Given the description of an element on the screen output the (x, y) to click on. 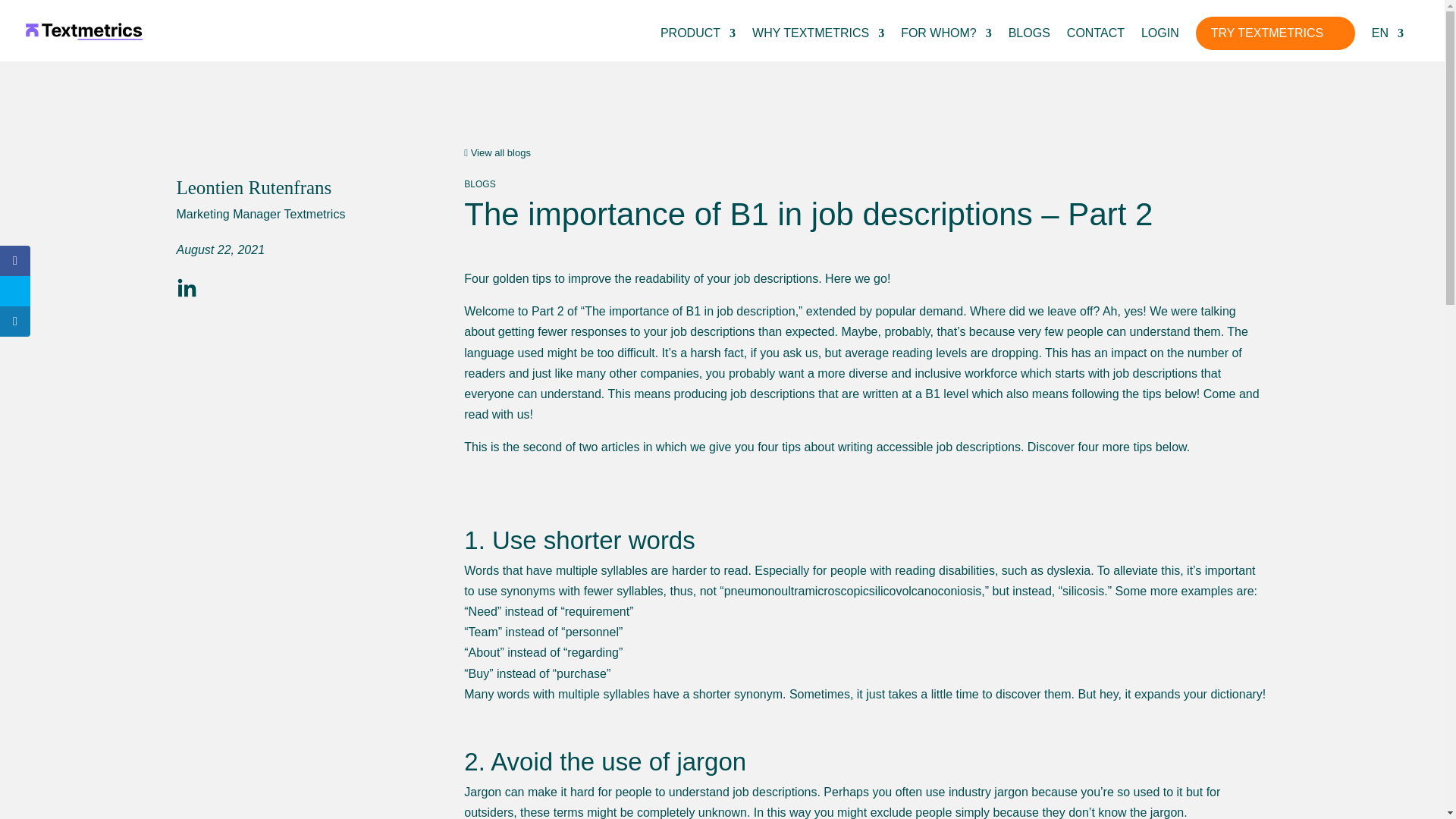
TRY TEXTMETRICS (1275, 32)
WHY TEXTMETRICS (817, 44)
Leontien Rutenfrans (253, 187)
EN (1387, 44)
CONTACT (1095, 44)
BLOGS (1029, 44)
PRODUCT (698, 44)
FOR WHOM? (946, 44)
EN (1387, 44)
LOGIN (1160, 44)
